Given the description of an element on the screen output the (x, y) to click on. 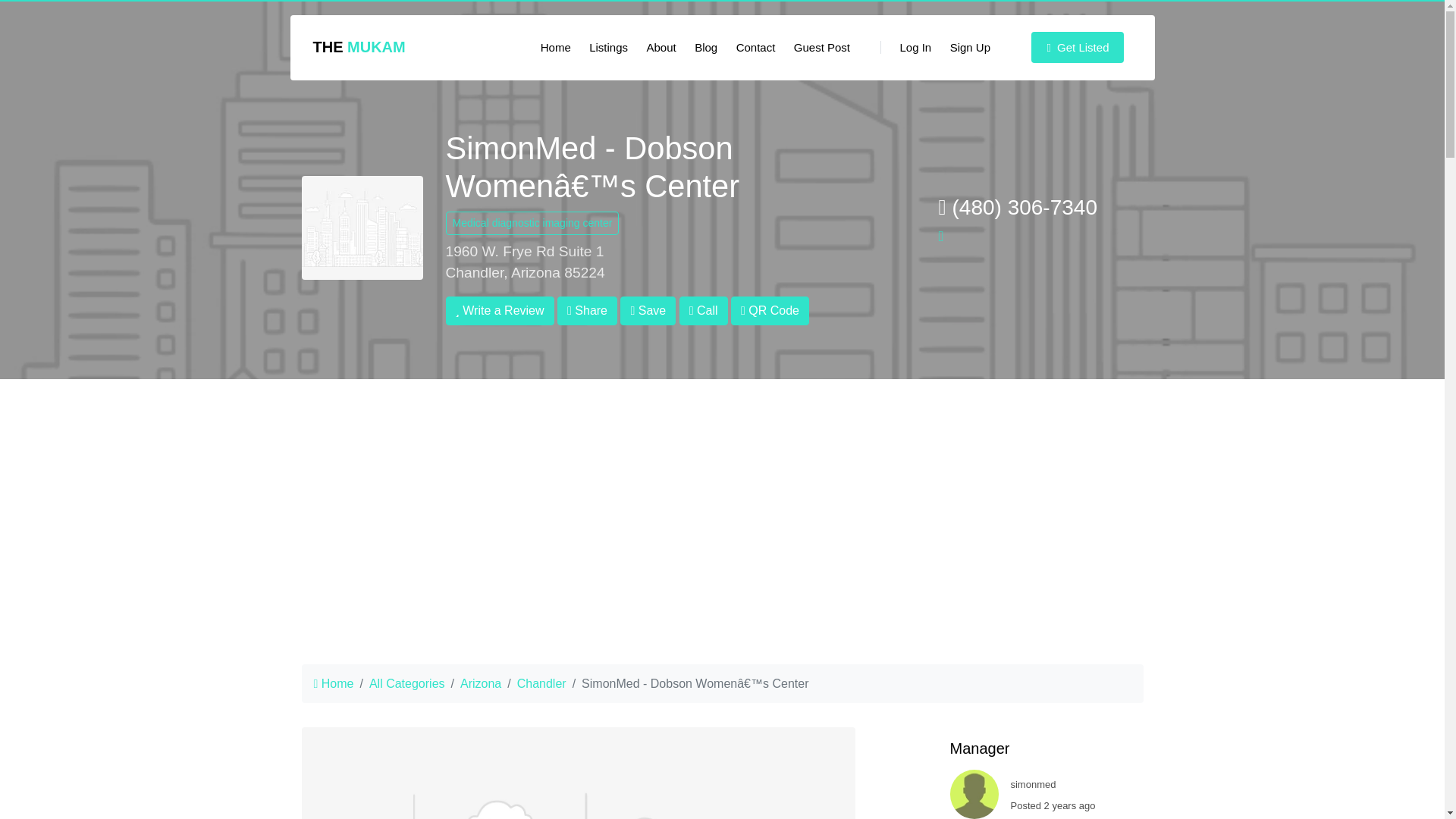
Listings (607, 47)
Log In (905, 47)
Home (555, 47)
QR Code (769, 310)
Sign Up (969, 47)
Call (703, 310)
Get Listed (1077, 47)
Write a Review (499, 310)
Medical diagnostic imaging center (532, 223)
Share (587, 310)
Guest Post (821, 47)
Contact (756, 47)
THE MUKAM (358, 46)
Save (647, 310)
About (660, 47)
